Given the description of an element on the screen output the (x, y) to click on. 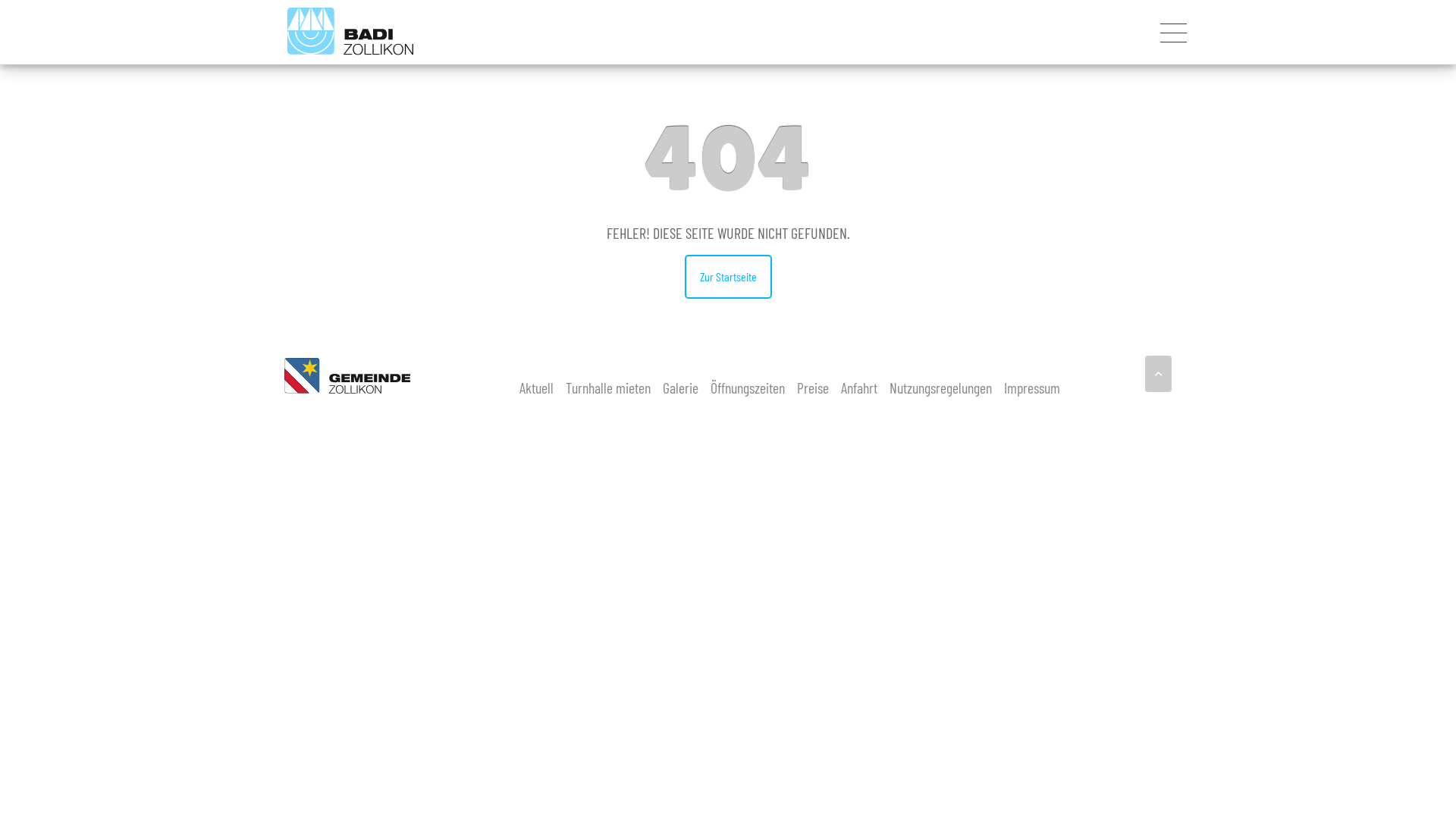
Impressum Element type: text (1032, 387)
Zur Startseite Element type: text (727, 276)
Nutzungsregelungen Element type: text (940, 387)
Anfahrt Element type: text (858, 387)
Turnhalle mieten Element type: text (607, 387)
Galerie Element type: text (680, 387)
Preise Element type: text (812, 387)
Aktuell Element type: text (536, 387)
Seitenanfang Element type: hover (1158, 373)
